Given the description of an element on the screen output the (x, y) to click on. 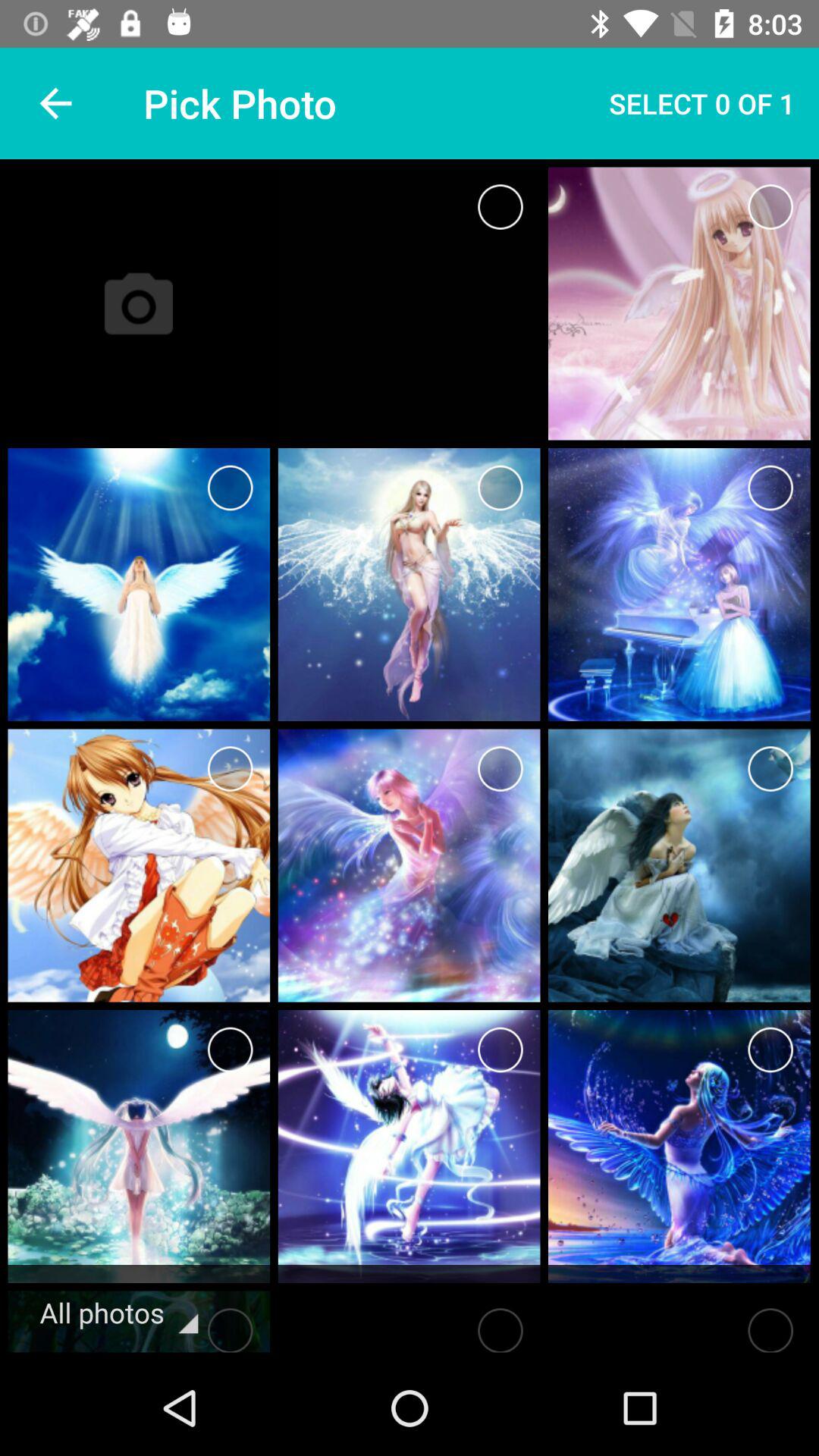
choose image (770, 768)
